Given the description of an element on the screen output the (x, y) to click on. 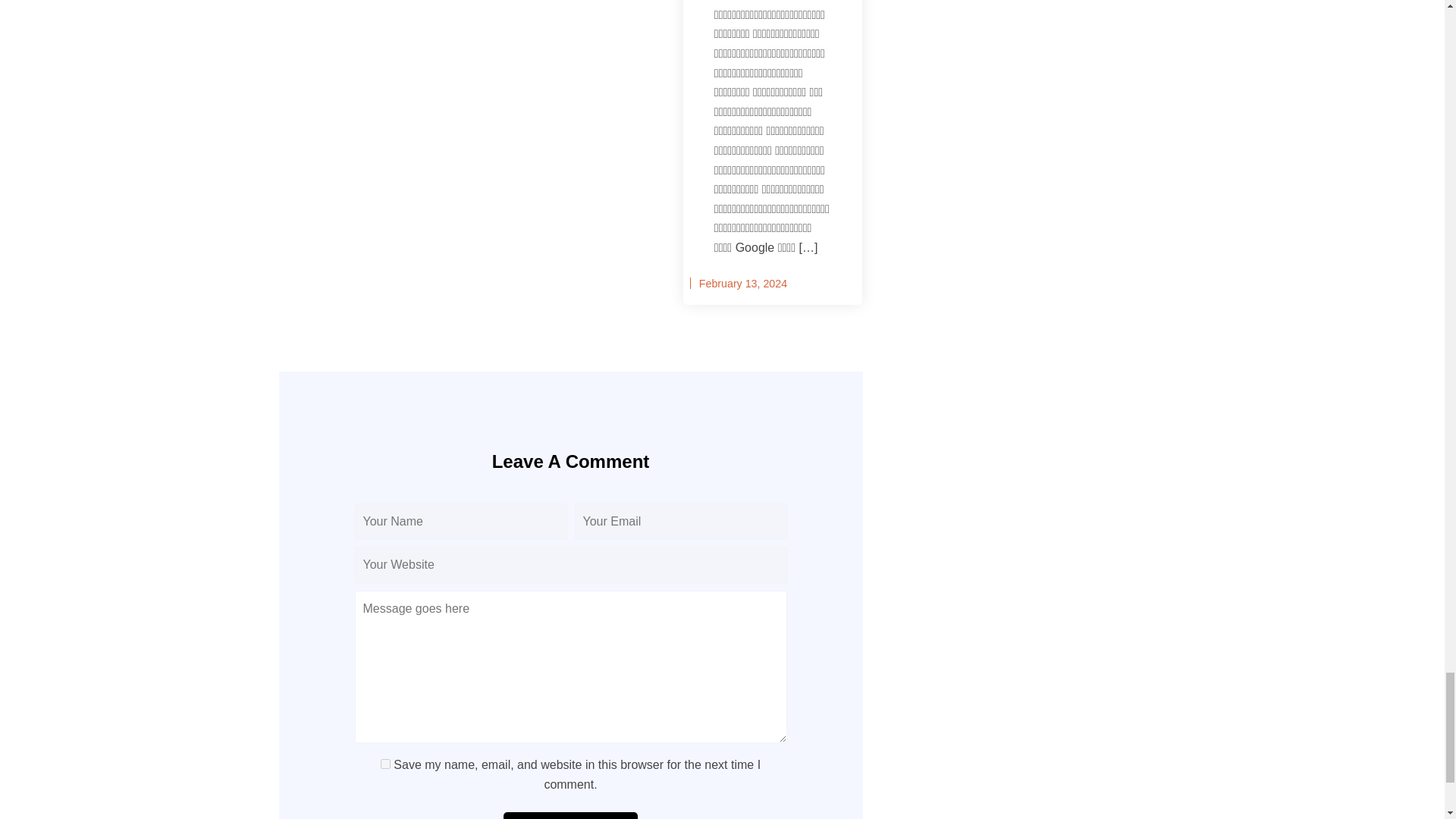
February 13, 2024 (742, 283)
Post Comment (570, 815)
yes (385, 764)
